Given the description of an element on the screen output the (x, y) to click on. 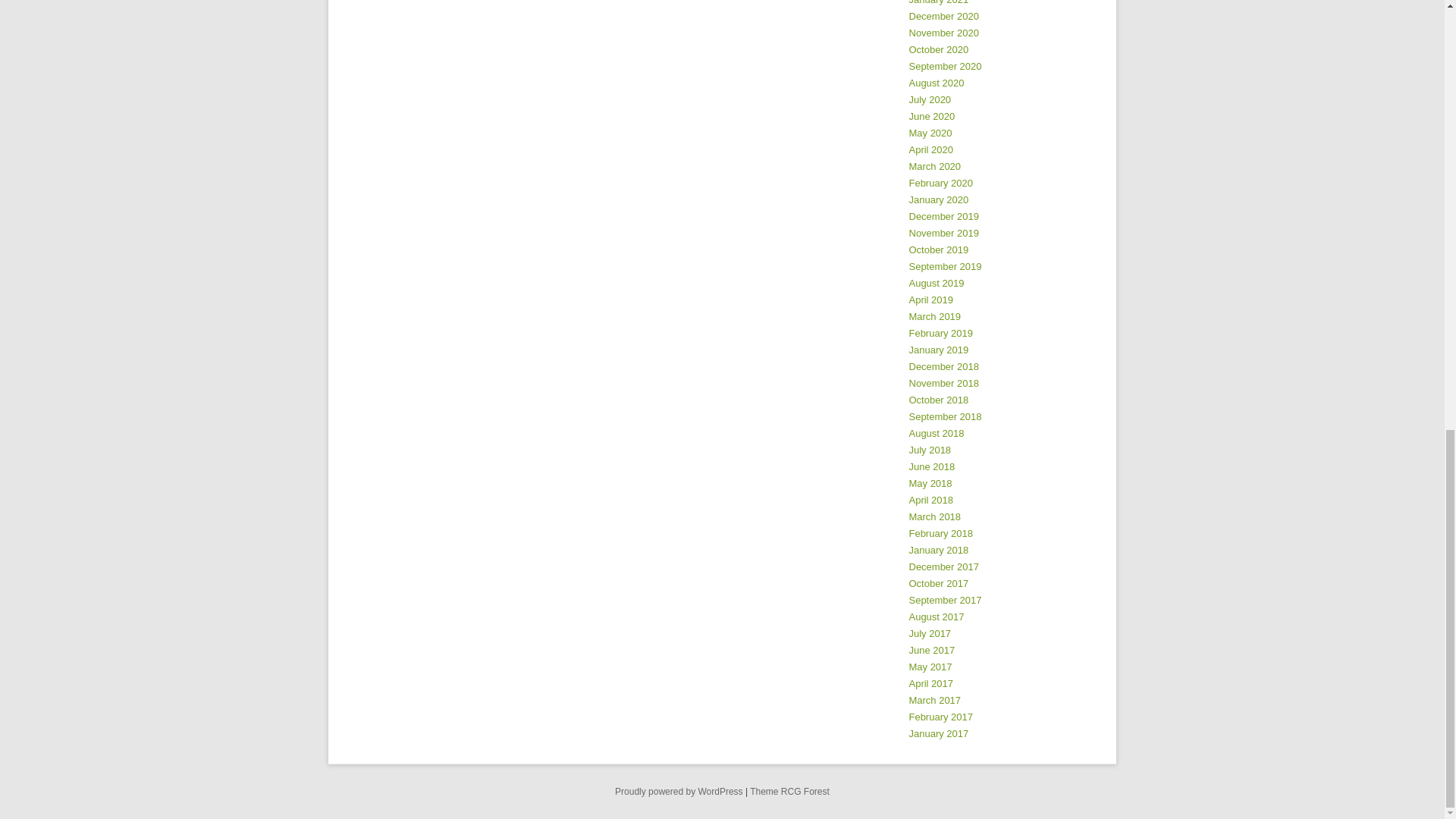
Semantic Personal Publishing Platform (678, 791)
